Given the description of an element on the screen output the (x, y) to click on. 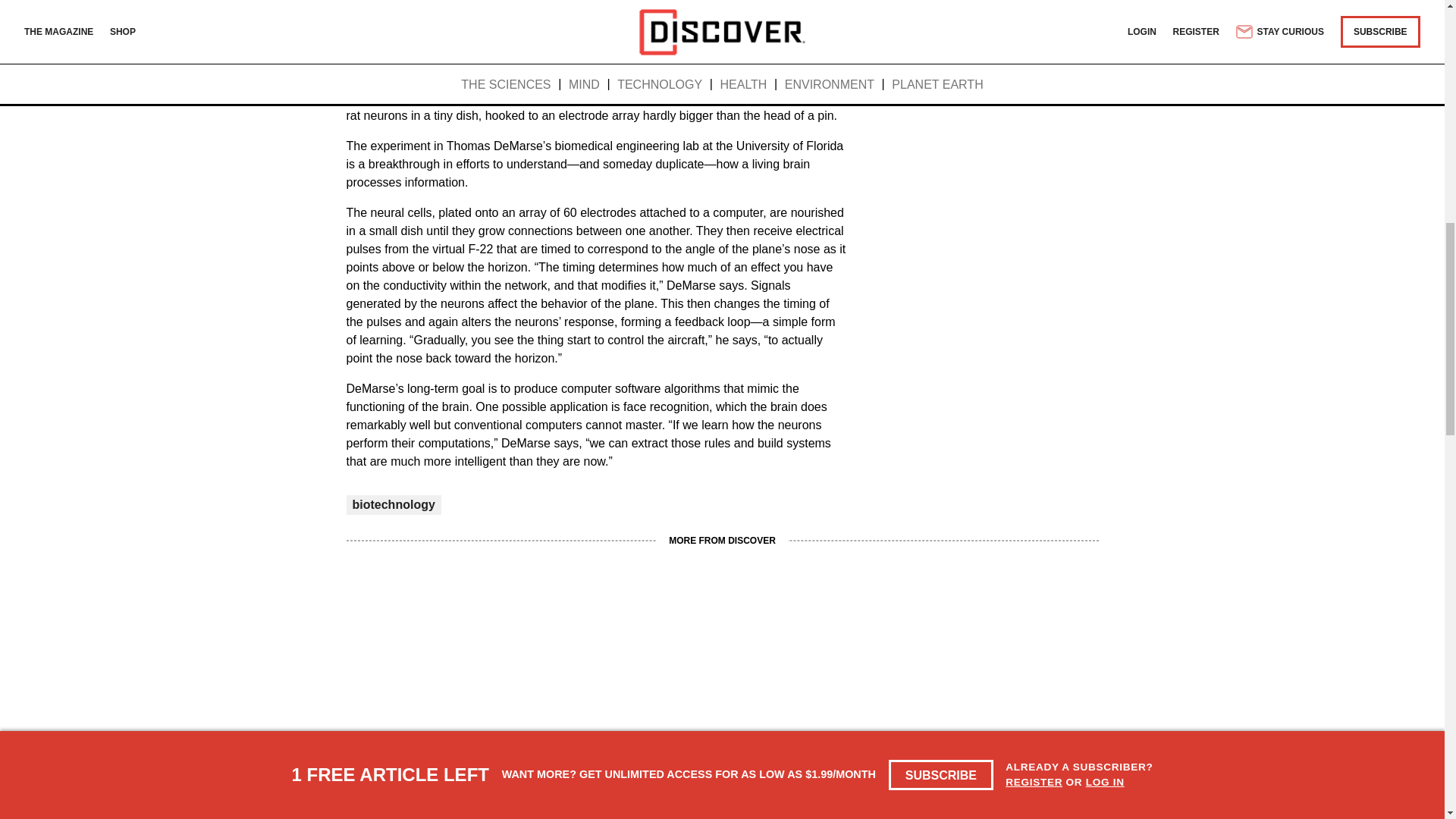
TECHNOLOGY (382, 736)
biotechnology (392, 504)
Audio Article (590, 29)
TECHNOLOGY (637, 736)
